Given the description of an element on the screen output the (x, y) to click on. 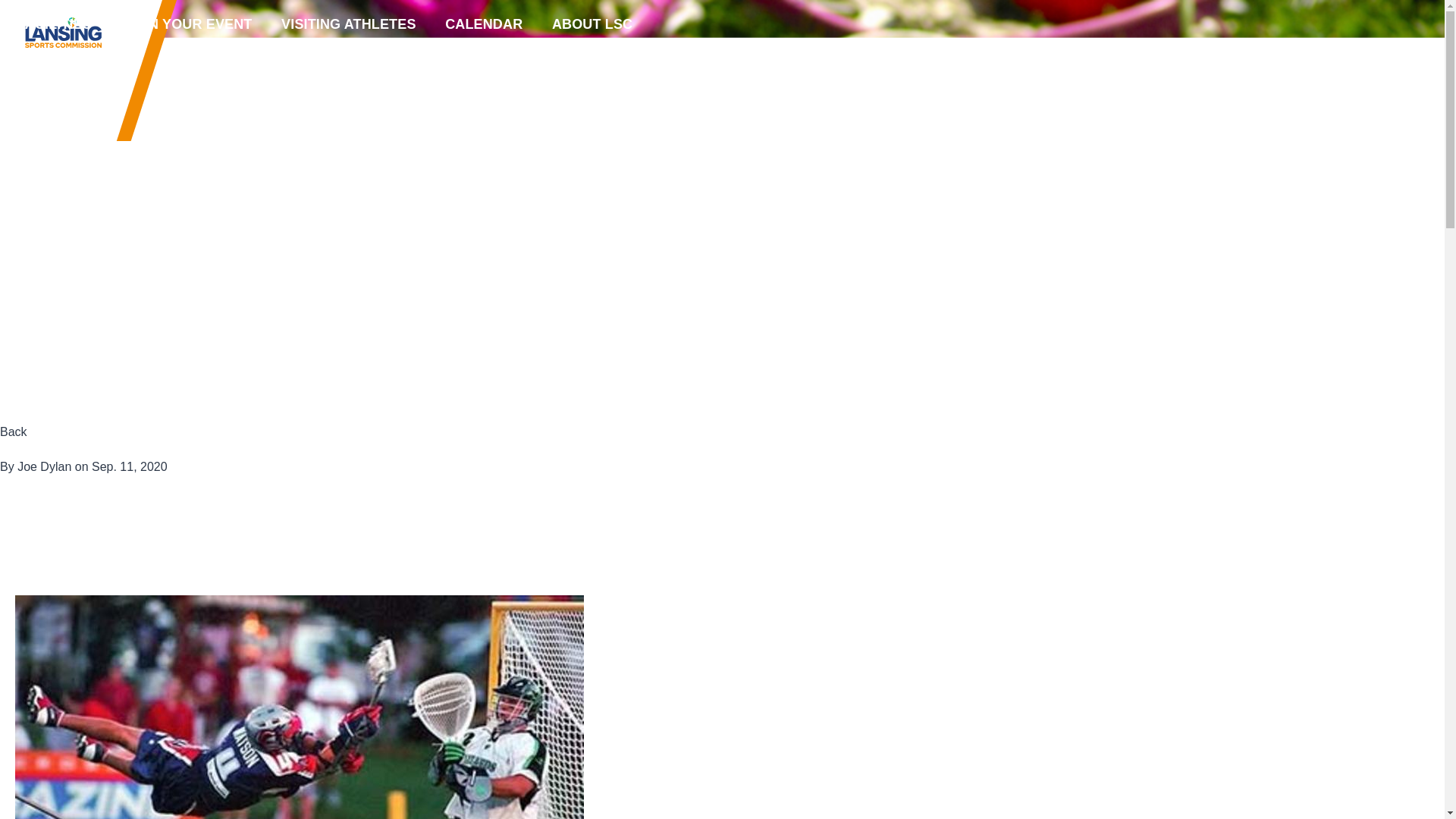
PLAN YOUR EVENT (183, 29)
Joe Dylan (44, 466)
FACILITIES (51, 29)
CALENDAR (481, 29)
Back (13, 431)
ABOUT LSC (589, 29)
VISITING ATHLETES (345, 29)
